Given the description of an element on the screen output the (x, y) to click on. 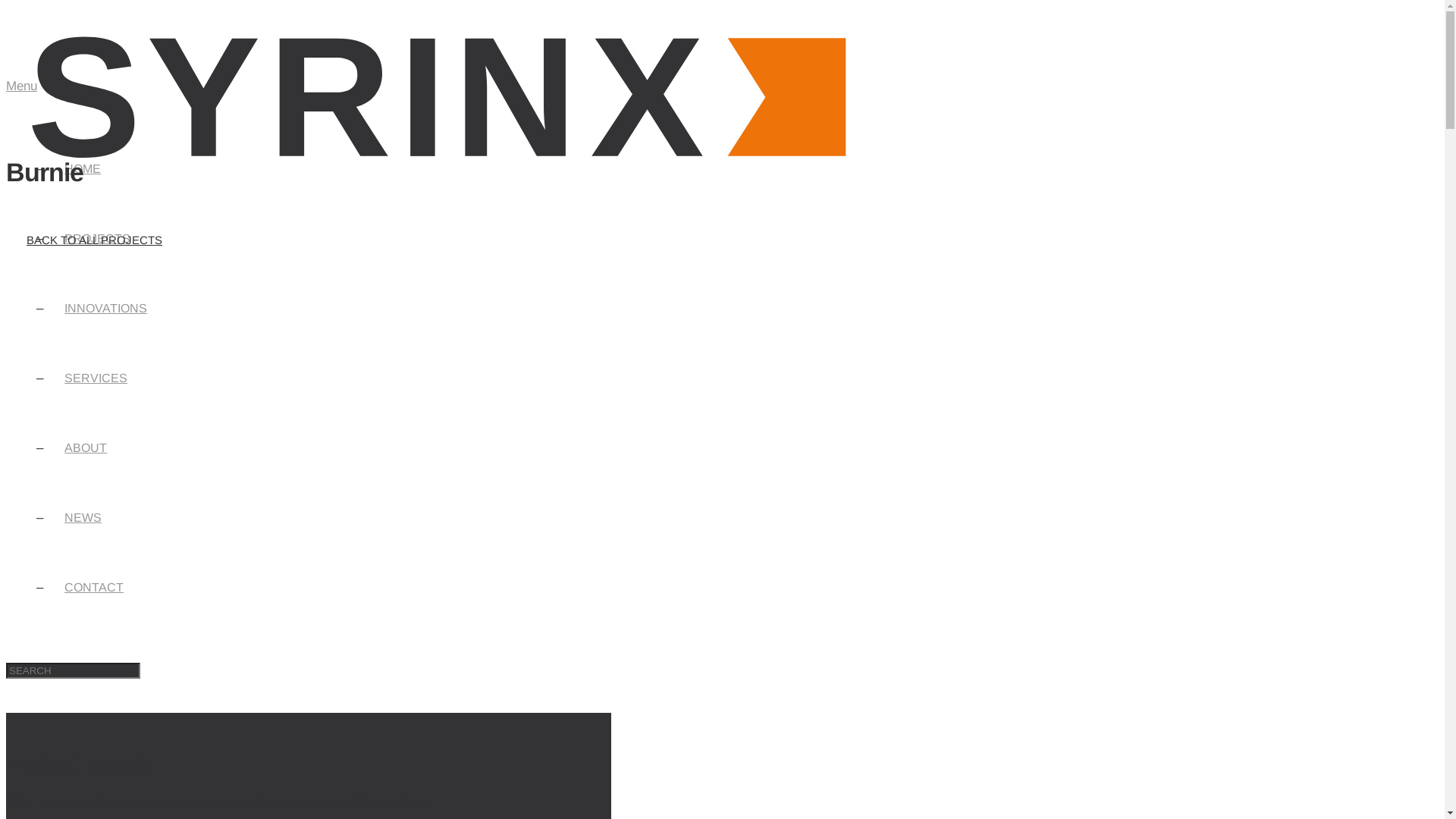
NEWS Element type: text (82, 517)
SERVICES Element type: text (95, 377)
HOME Element type: text (82, 168)
BACK TO ALL PROJECTS Element type: text (94, 239)
ABOUT Element type: text (85, 447)
INNOVATIONS Element type: text (105, 307)
PROJECTS Element type: text (97, 238)
Menu Element type: text (21, 85)
CONTACT Element type: text (93, 586)
